Given the description of an element on the screen output the (x, y) to click on. 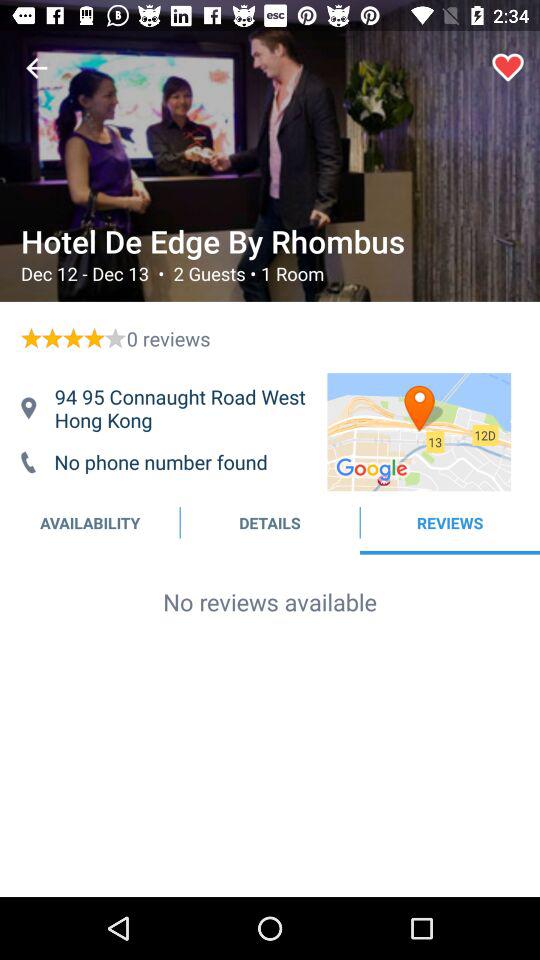
select the text hotel de edge by rhombus (267, 242)
click on the location icon left to 94 (28, 408)
click on text next to details (450, 522)
